Given the description of an element on the screen output the (x, y) to click on. 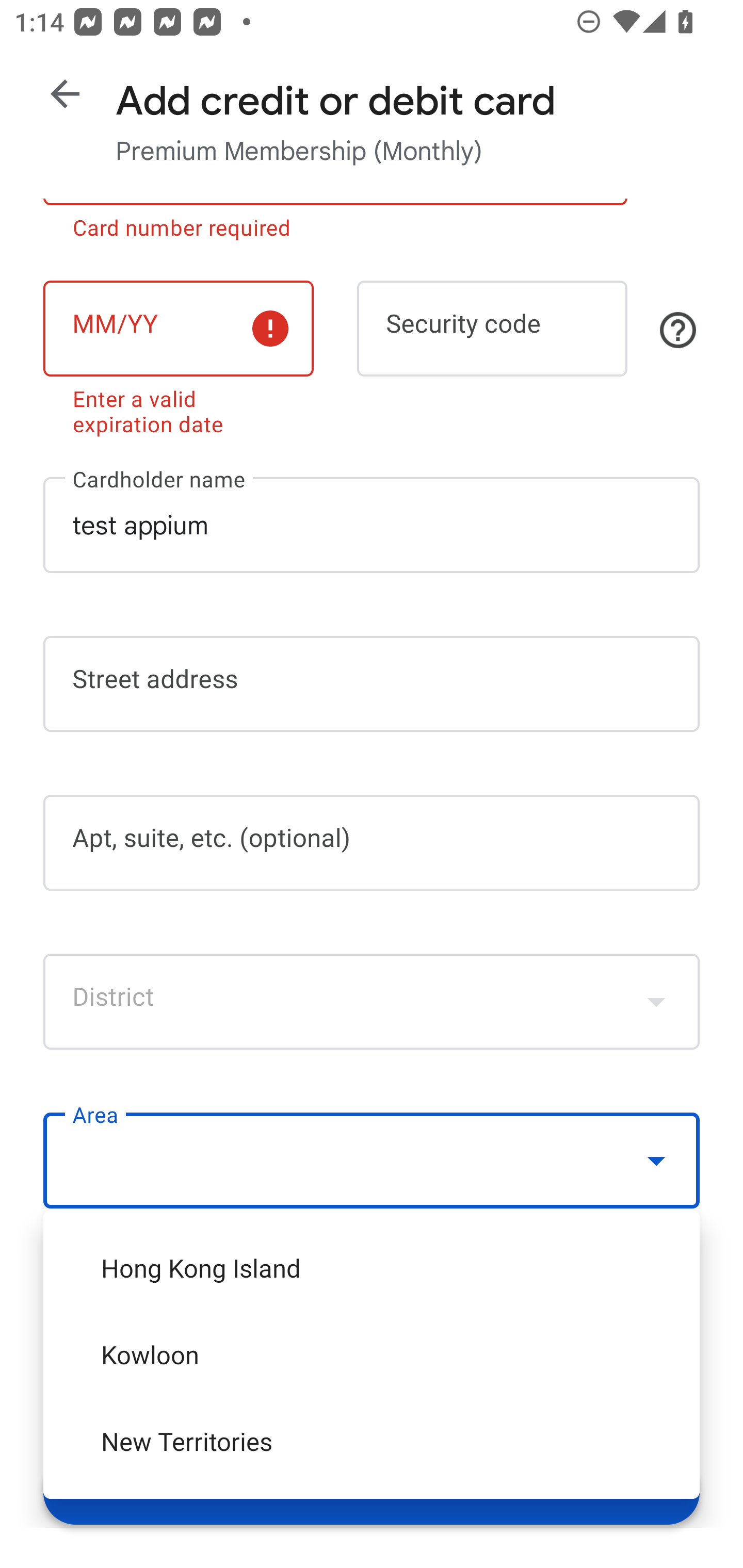
Back (64, 93)
Expiration date, 2 digit month, 2 digit year (178, 328)
Security code (492, 328)
Security code help (677, 329)
test appium (371, 524)
Street address (371, 684)
Apt, suite, etc. (optional) (371, 842)
District (371, 1000)
Show dropdown menu (655, 1001)
Area (371, 1160)
Show dropdown menu (655, 1160)
